Given the description of an element on the screen output the (x, y) to click on. 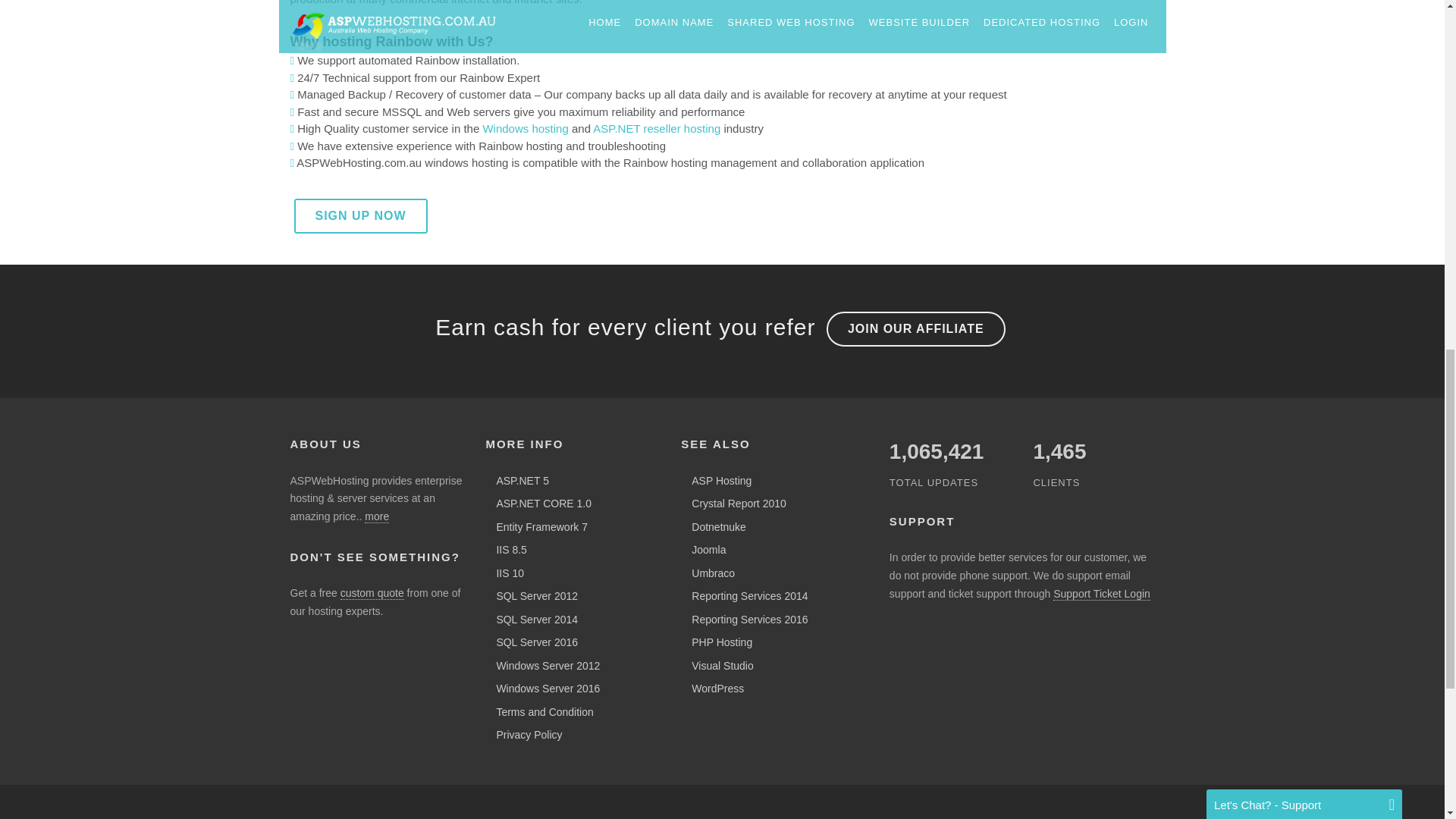
JOIN OUR AFFILIATE (916, 329)
Windows Server 2012 (543, 665)
IIS 8.5 (506, 549)
SQL Server 2016 (532, 642)
IIS 10 (505, 573)
SQL Server 2012 (532, 595)
Windows hosting (524, 128)
ASP.NET CORE 1.0 (539, 503)
more (376, 516)
Entity Framework 7 (537, 526)
